Given the description of an element on the screen output the (x, y) to click on. 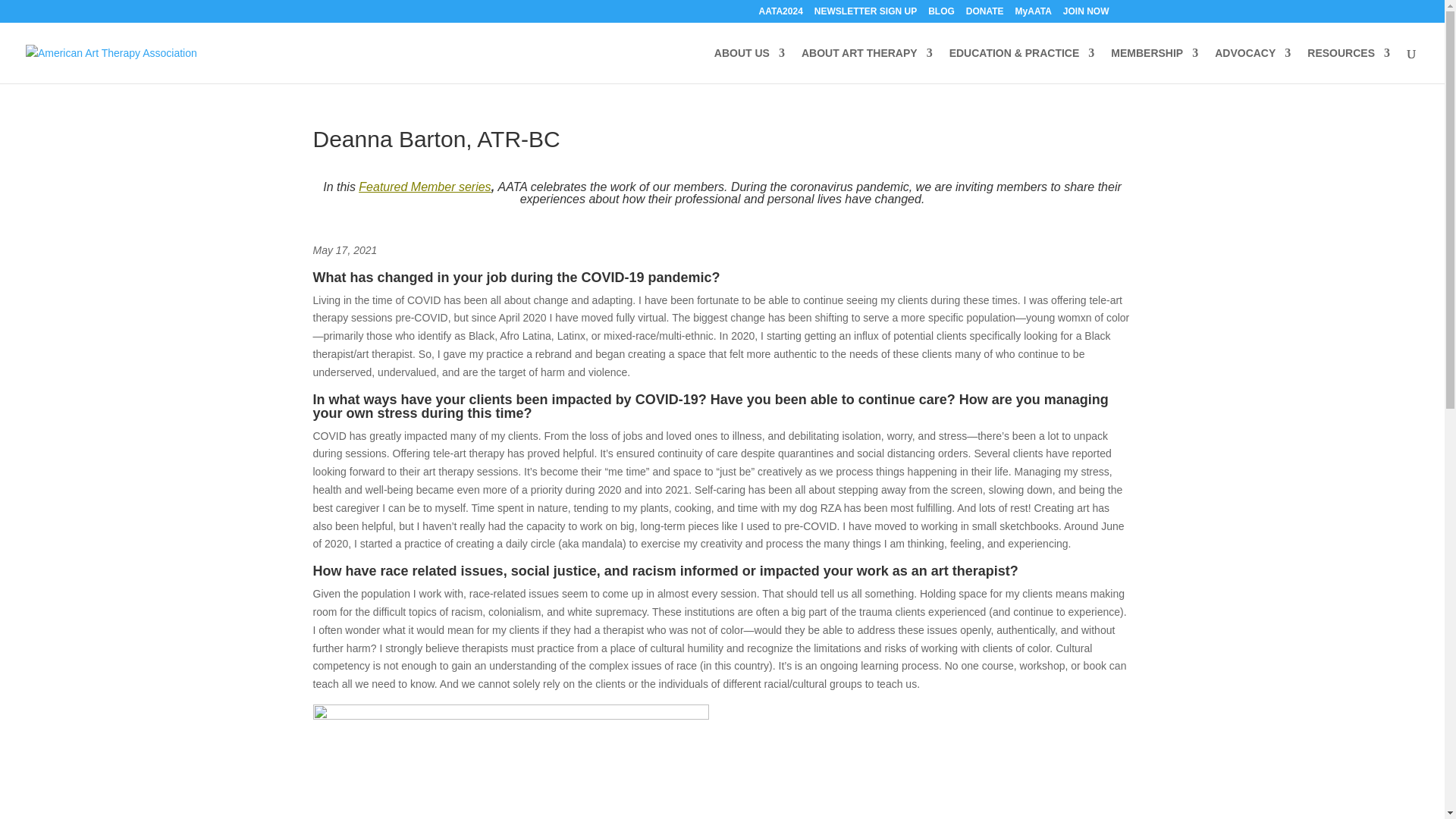
DONATE (985, 14)
MEMBERSHIP (1154, 65)
ABOUT ART THERAPY (867, 65)
ABOUT US (749, 65)
AATA2024 (780, 14)
JOIN NOW (1085, 14)
BLOG (941, 14)
NEWSLETTER SIGN UP (865, 14)
MyAATA (1032, 14)
